Given the description of an element on the screen output the (x, y) to click on. 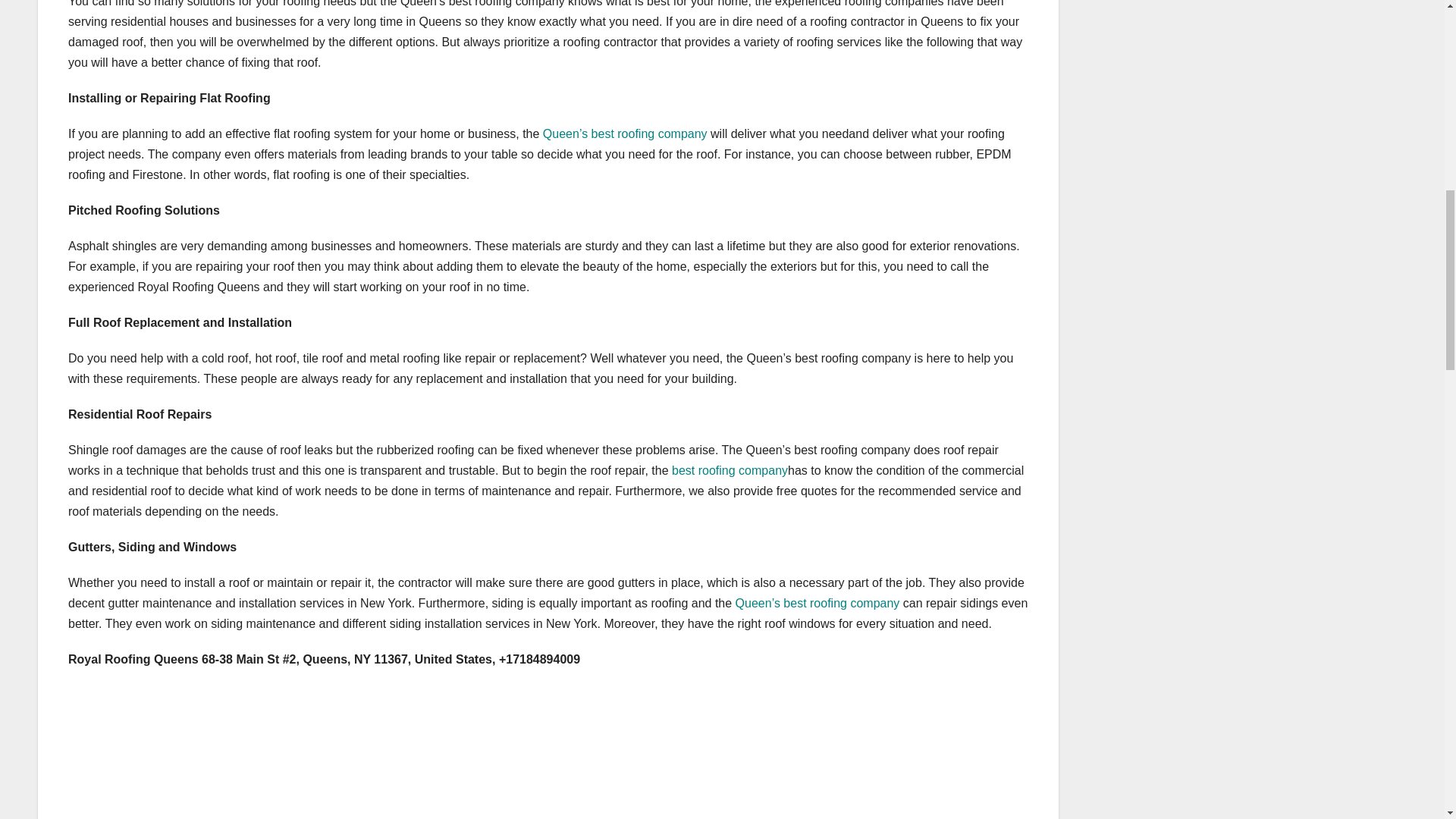
best roofing company (729, 470)
